Given the description of an element on the screen output the (x, y) to click on. 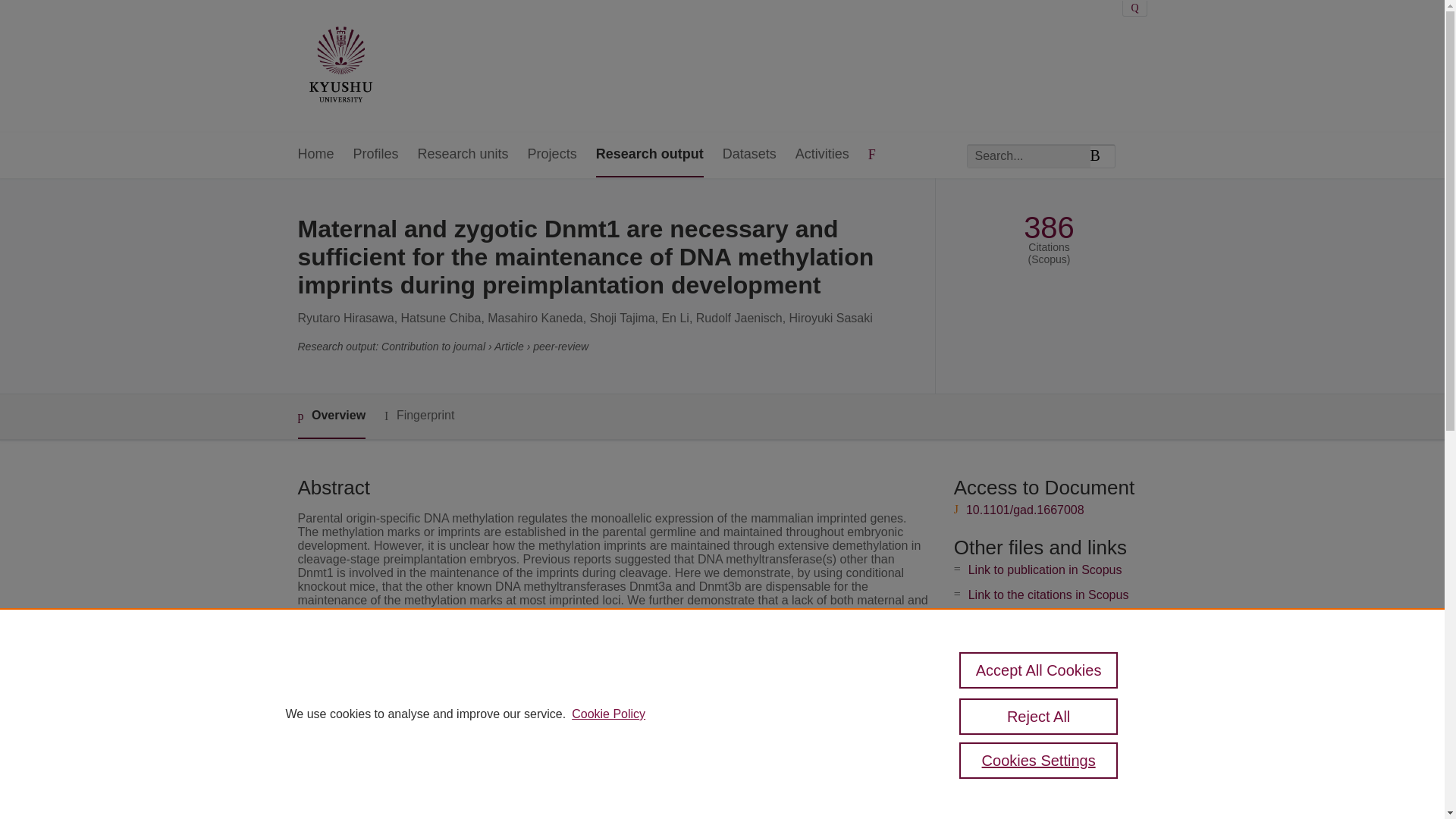
Fingerprint (419, 415)
Research units (462, 154)
Projects (551, 154)
Overview (331, 415)
Datasets (749, 154)
Activities (821, 154)
Genes and Development (576, 731)
Link to publication in Scopus (1045, 569)
Profiles (375, 154)
